Given the description of an element on the screen output the (x, y) to click on. 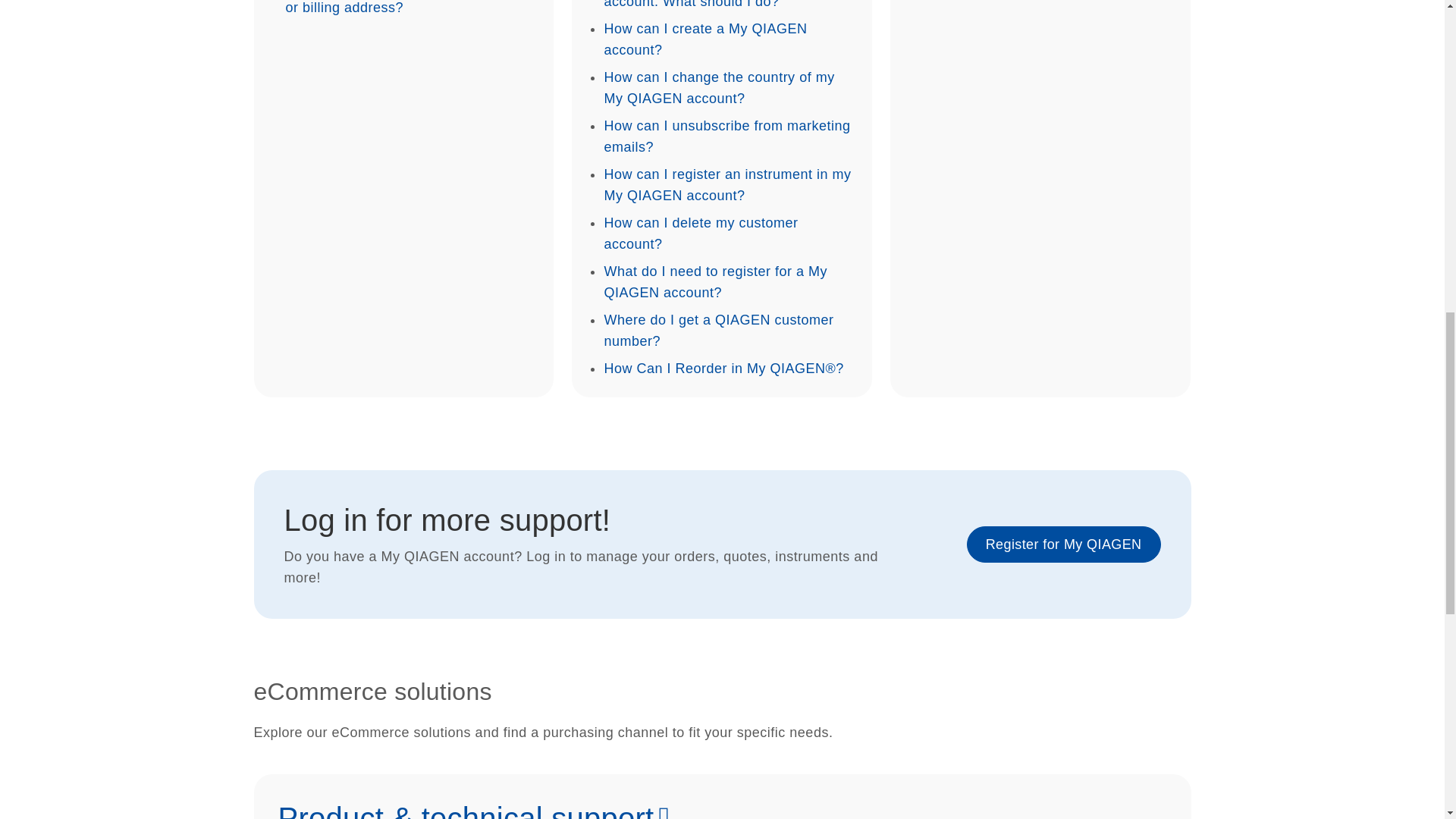
How can I create a My QIAGEN account? (705, 39)
How can I change the country of my My QIAGEN account? (719, 87)
What do I need to register for a My QIAGEN account? (715, 281)
How can I delete my customer account? (700, 233)
How can I register an instrument in my My QIAGEN account? (727, 185)
I cannot login to my My QIAGEN account. What should I do? (708, 4)
How can I unsubscribe from marketing emails? (727, 135)
How can I add an additional shipping or billing address? (403, 7)
Where do I get a QIAGEN customer number? (718, 330)
